Given the description of an element on the screen output the (x, y) to click on. 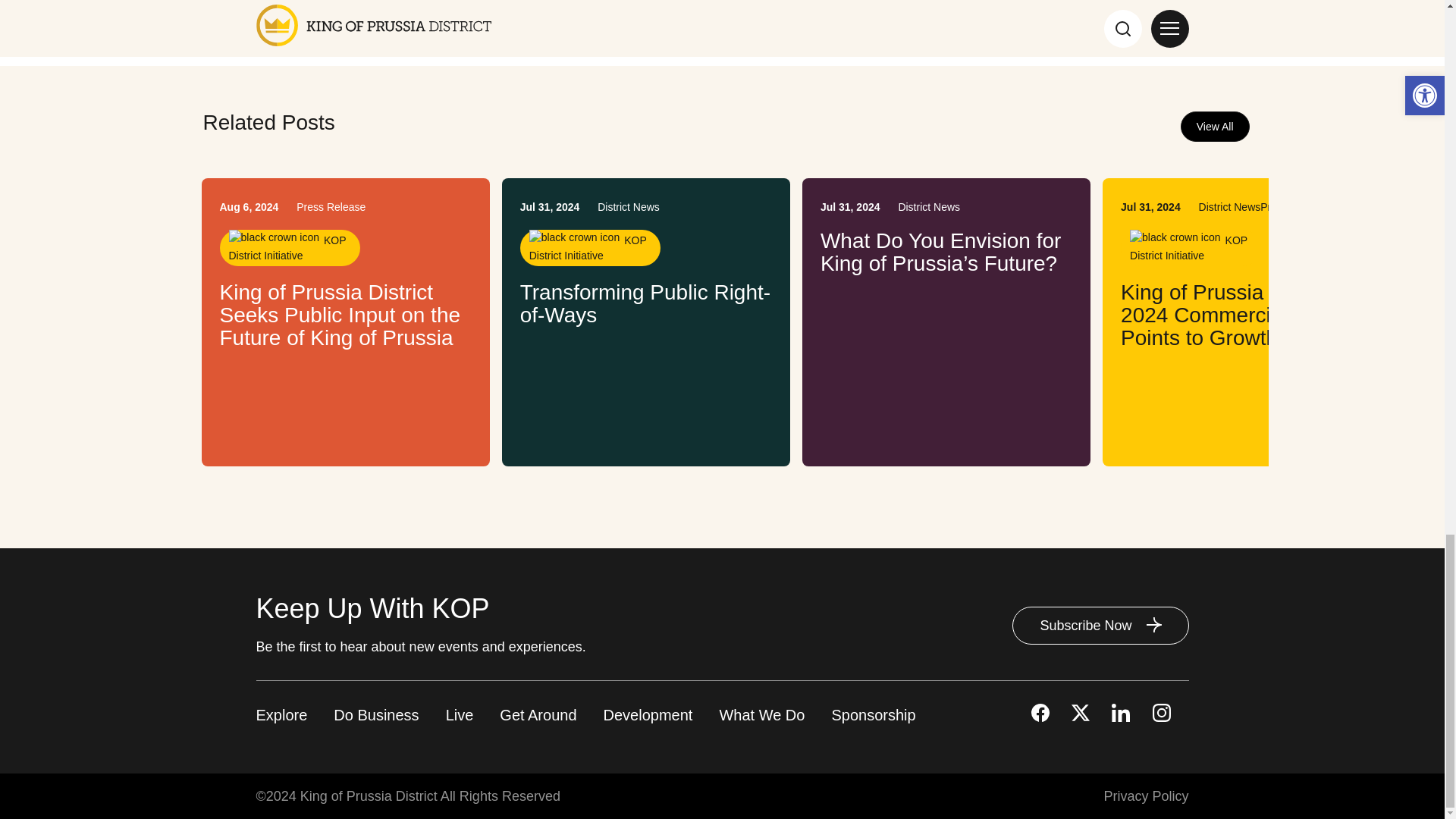
linkedin-in-brands (1120, 712)
twitter-brands (1080, 712)
instagram-brands (1161, 712)
